Given the description of an element on the screen output the (x, y) to click on. 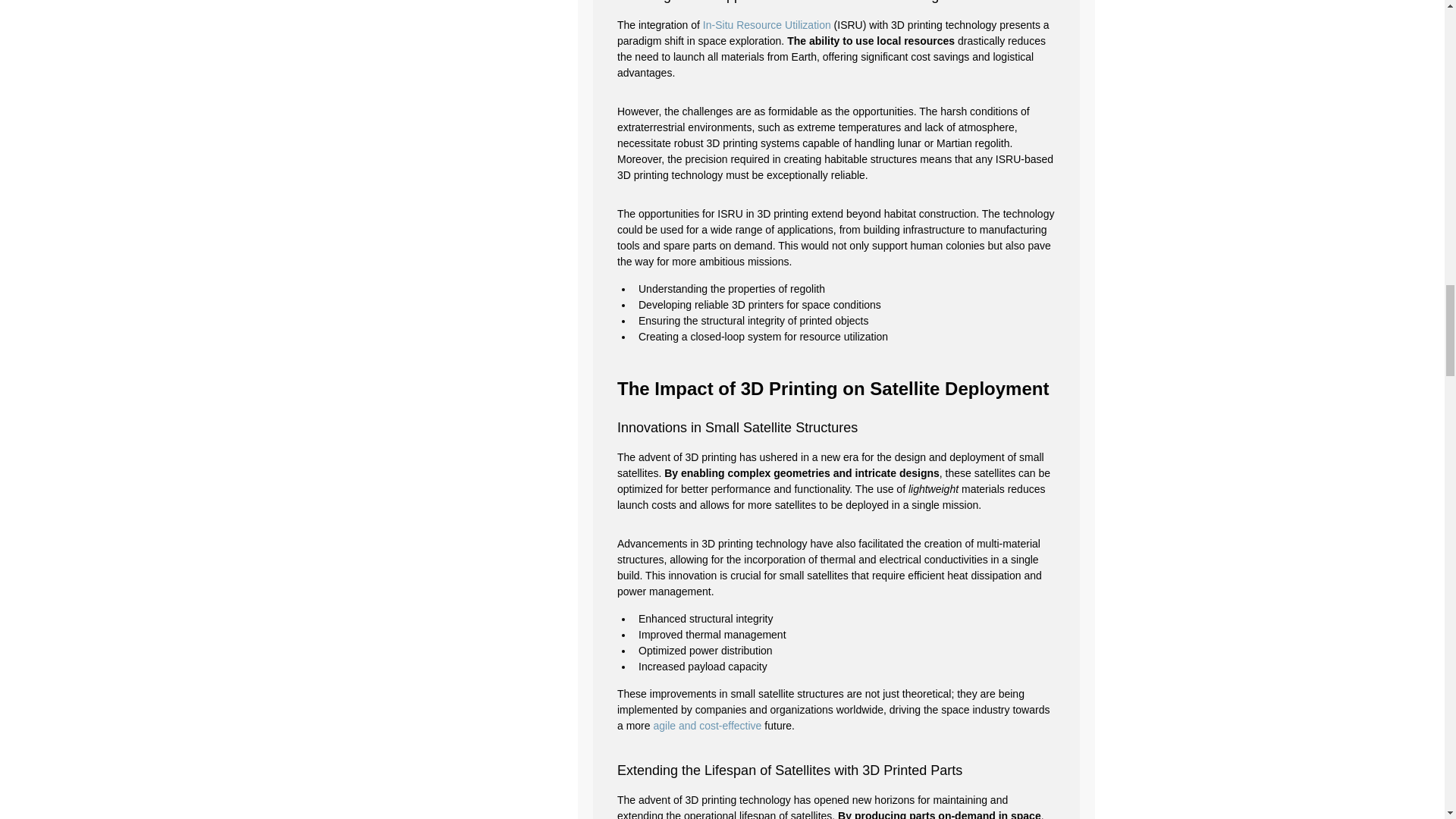
In-Situ Resource Utilization (765, 24)
agile and cost-effective (706, 725)
